Given the description of an element on the screen output the (x, y) to click on. 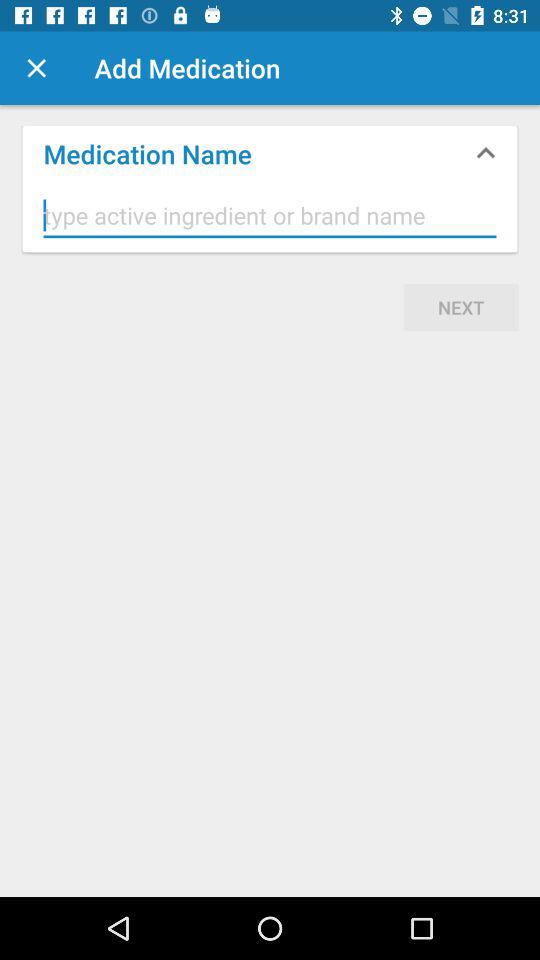
choose item to the left of the add medication icon (36, 68)
